Given the description of an element on the screen output the (x, y) to click on. 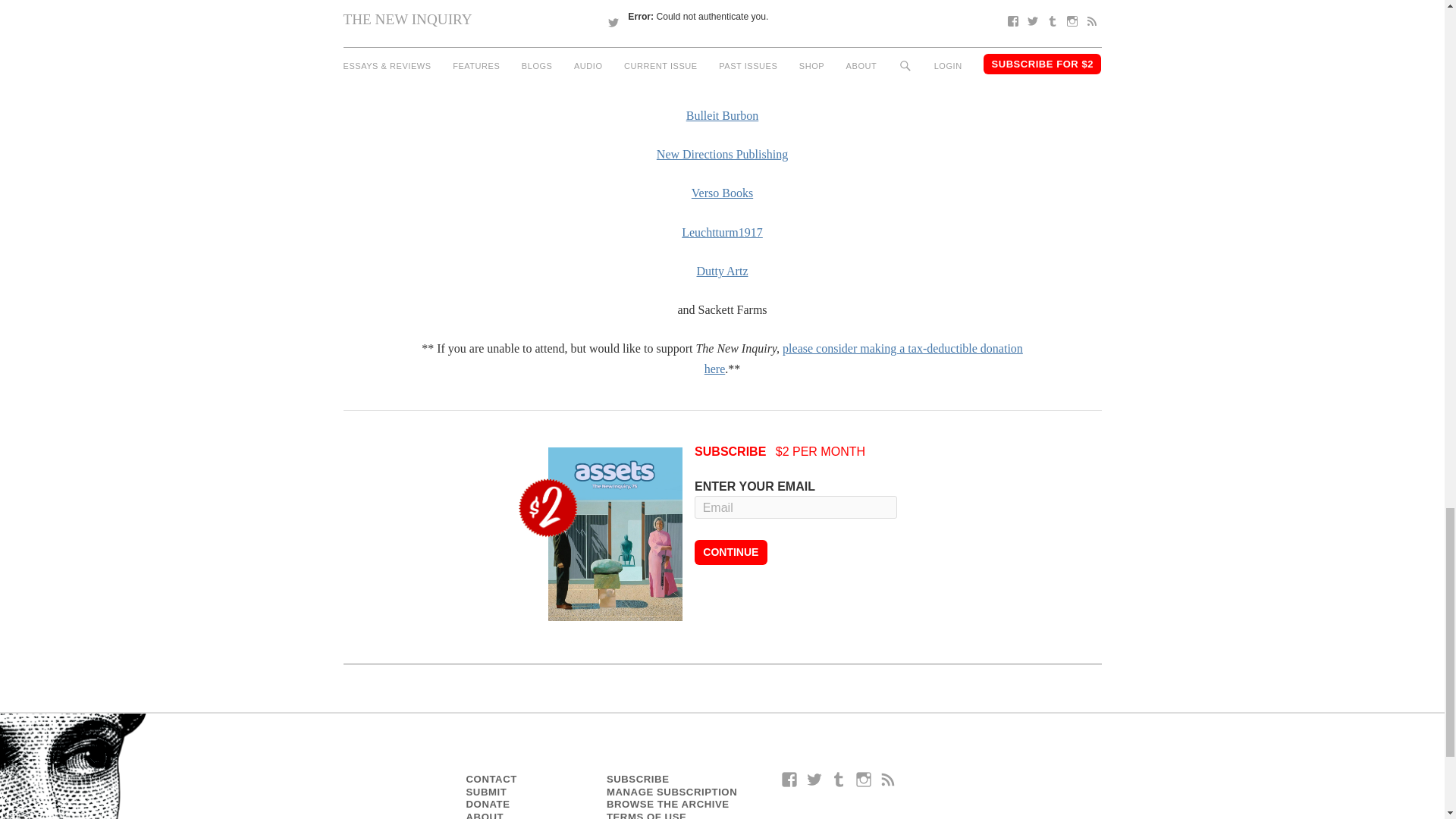
sponsors (721, 70)
Continue (730, 552)
Leuchtturm1917 (721, 232)
Dutty Artz (721, 270)
Bulleit Burbon (721, 115)
CONTACT (490, 778)
New Directions Publishing (721, 154)
Verso Books (721, 192)
Continue (730, 552)
please consider making a tax-deductible donation here (863, 358)
